Given the description of an element on the screen output the (x, y) to click on. 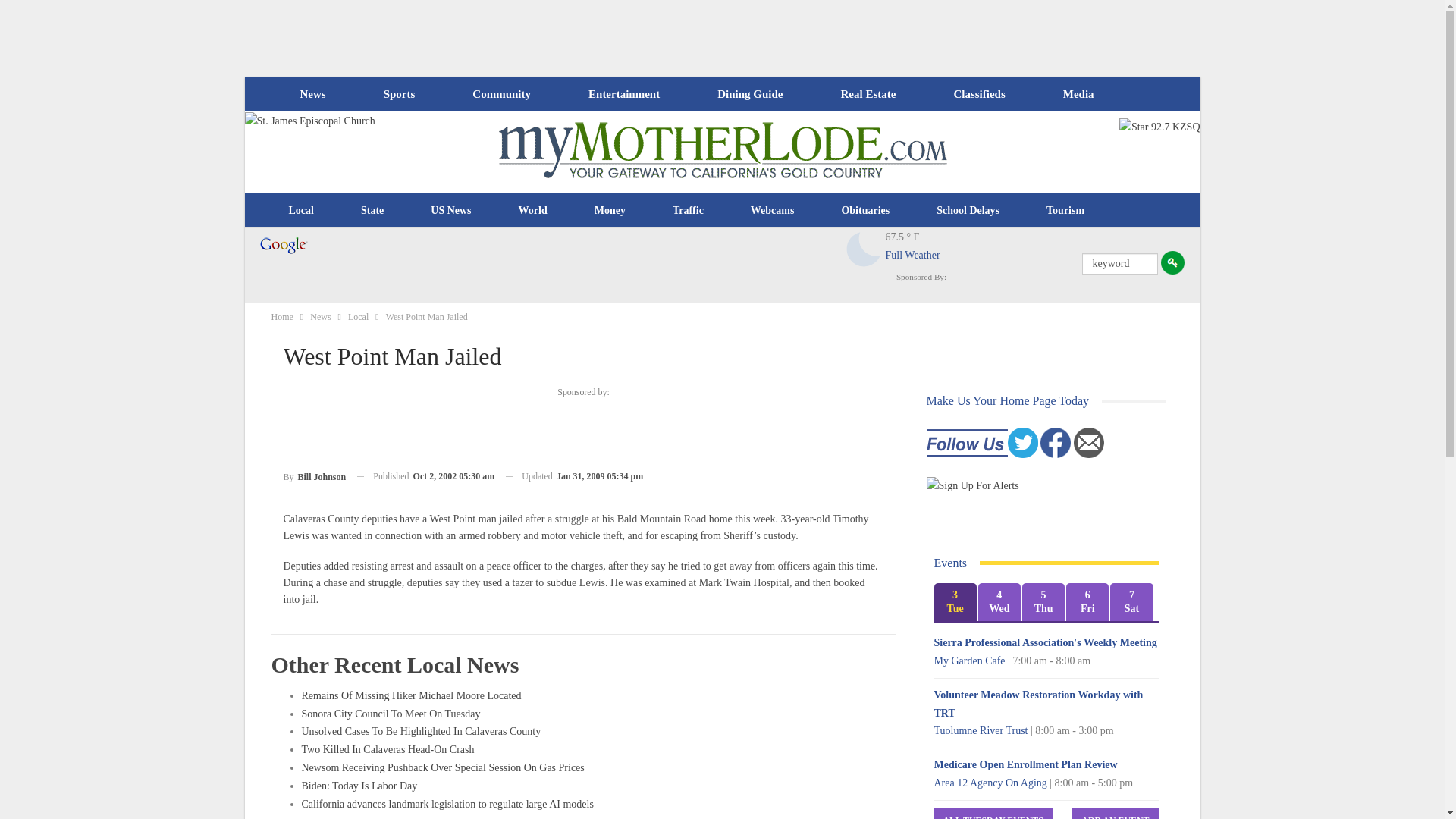
Sports (399, 93)
Money (609, 210)
State (372, 210)
Community (501, 93)
Add An Event (1114, 813)
Submit (1172, 262)
Browse Author Articles (314, 476)
